Given the description of an element on the screen output the (x, y) to click on. 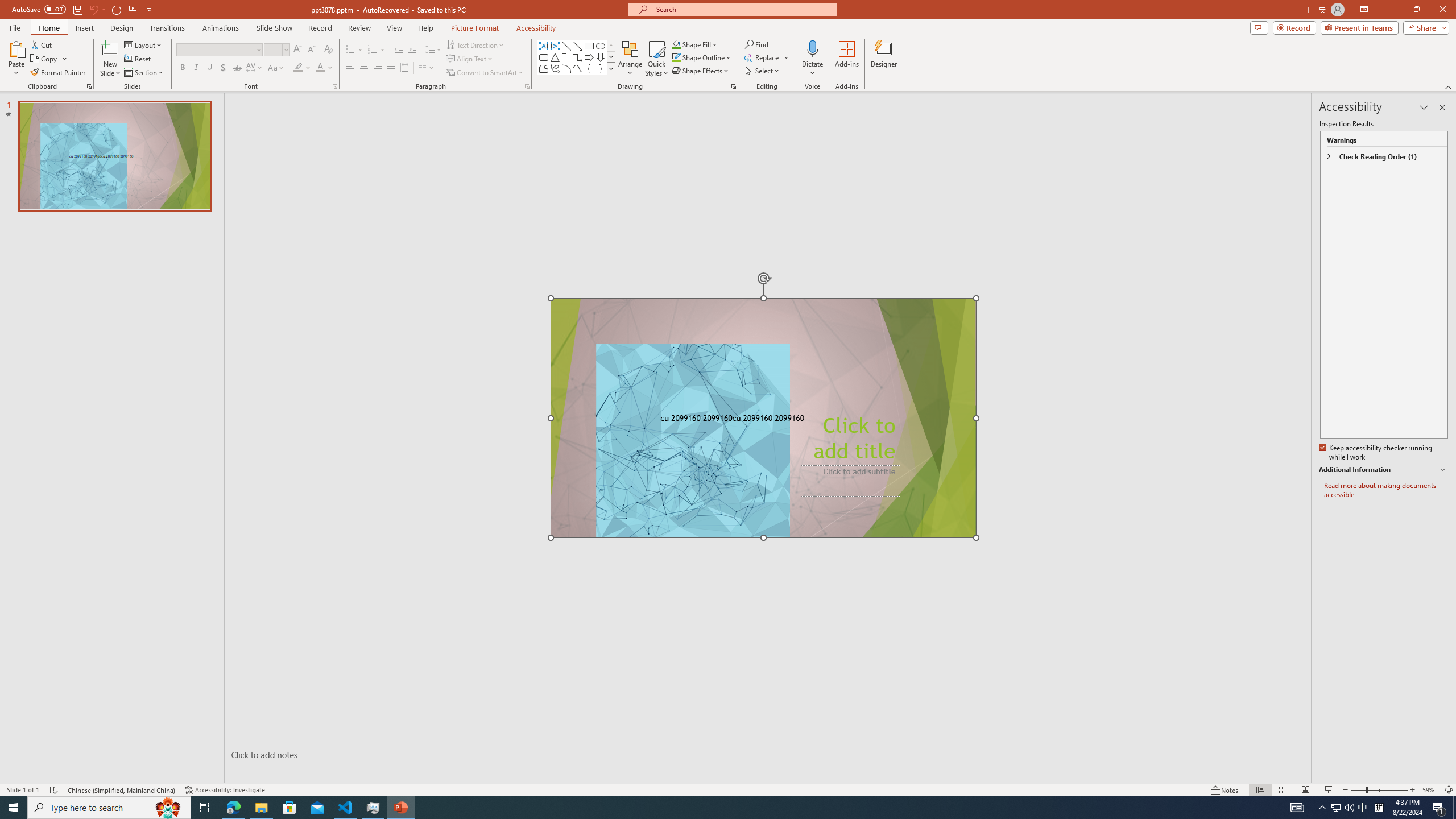
Zoom 59% (1430, 790)
